Given the description of an element on the screen output the (x, y) to click on. 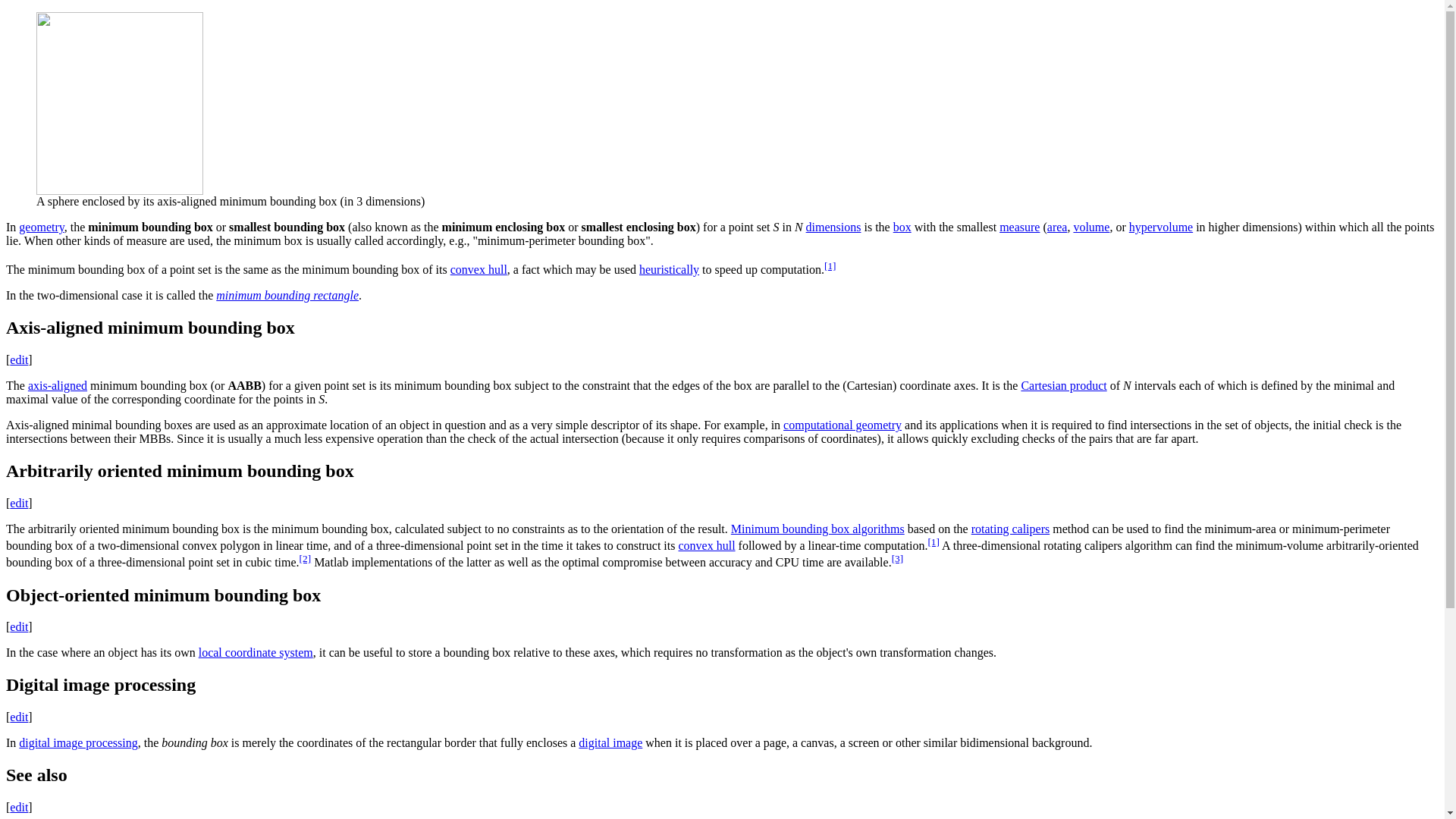
volume (1091, 226)
digital image (610, 742)
local coordinate system (255, 652)
Area (1056, 226)
convex hull (706, 545)
edit (18, 807)
Volume (1091, 226)
Axis-aligned (57, 385)
heuristically (668, 269)
edit (18, 359)
